Given the description of an element on the screen output the (x, y) to click on. 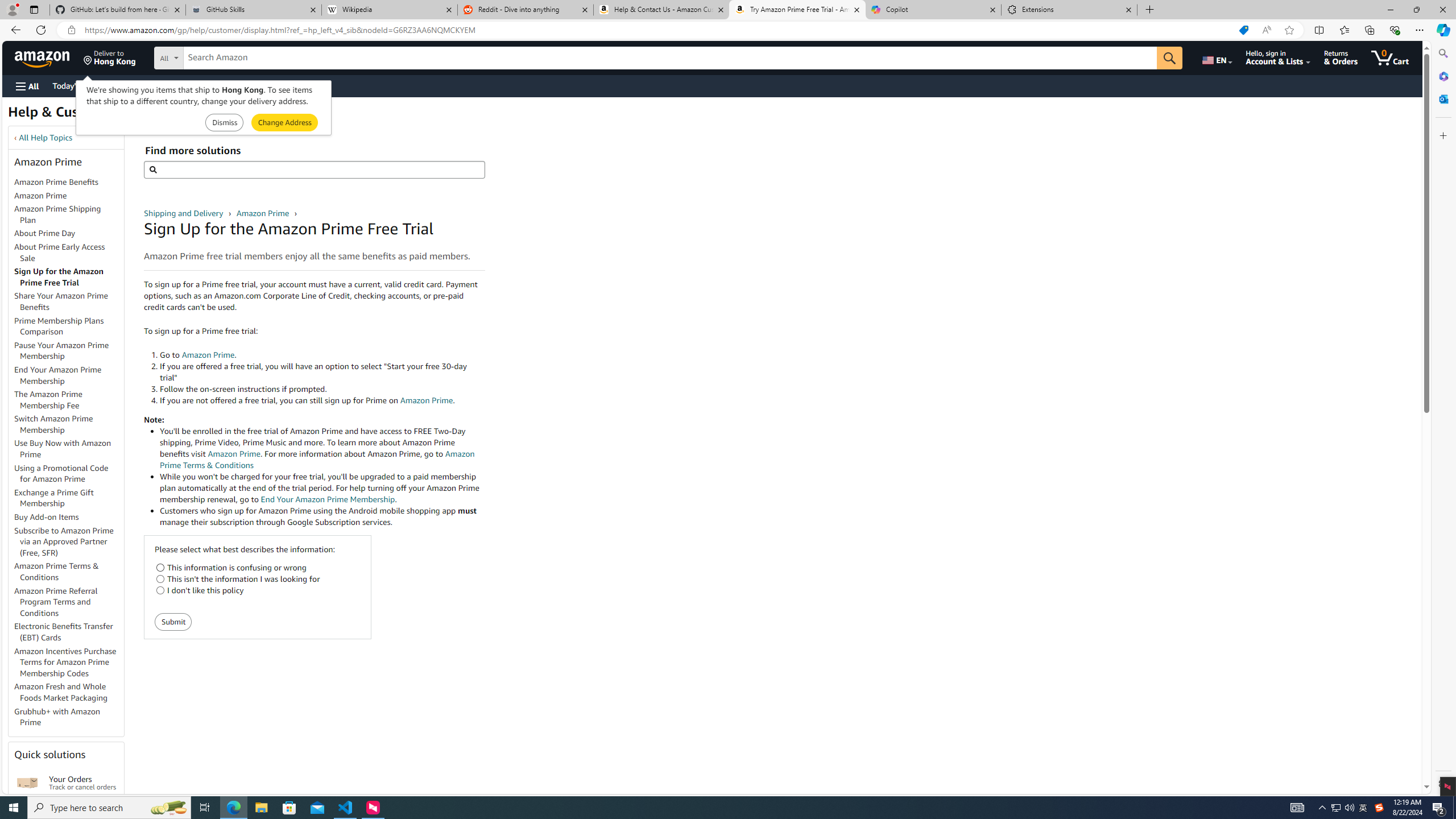
Deliver to Hong Kong (109, 57)
This isn't the information I was looking for (159, 578)
Electronic Benefits Transfer (EBT) Cards (68, 631)
Share Your Amazon Prime Benefits (68, 301)
About Prime Day (68, 233)
End Your Amazon Prime Membership (68, 375)
Try Amazon Prime Free Trial - Amazon Customer Service (797, 9)
Your Orders (27, 782)
Electronic Benefits Transfer (EBT) Cards (63, 631)
Exchange a Prime Gift Membership (68, 498)
